Given the description of an element on the screen output the (x, y) to click on. 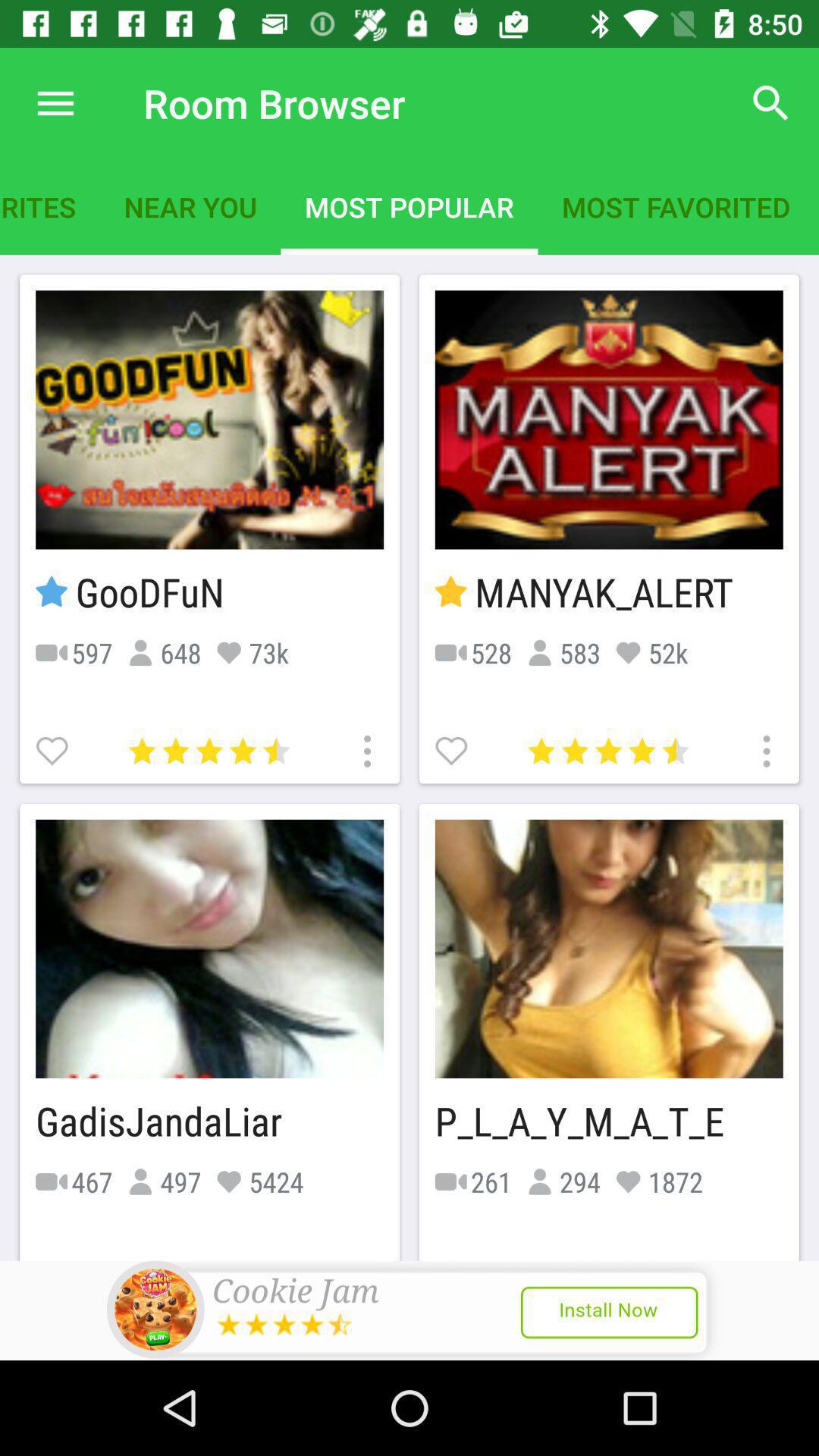
announcement (409, 1310)
